Given the description of an element on the screen output the (x, y) to click on. 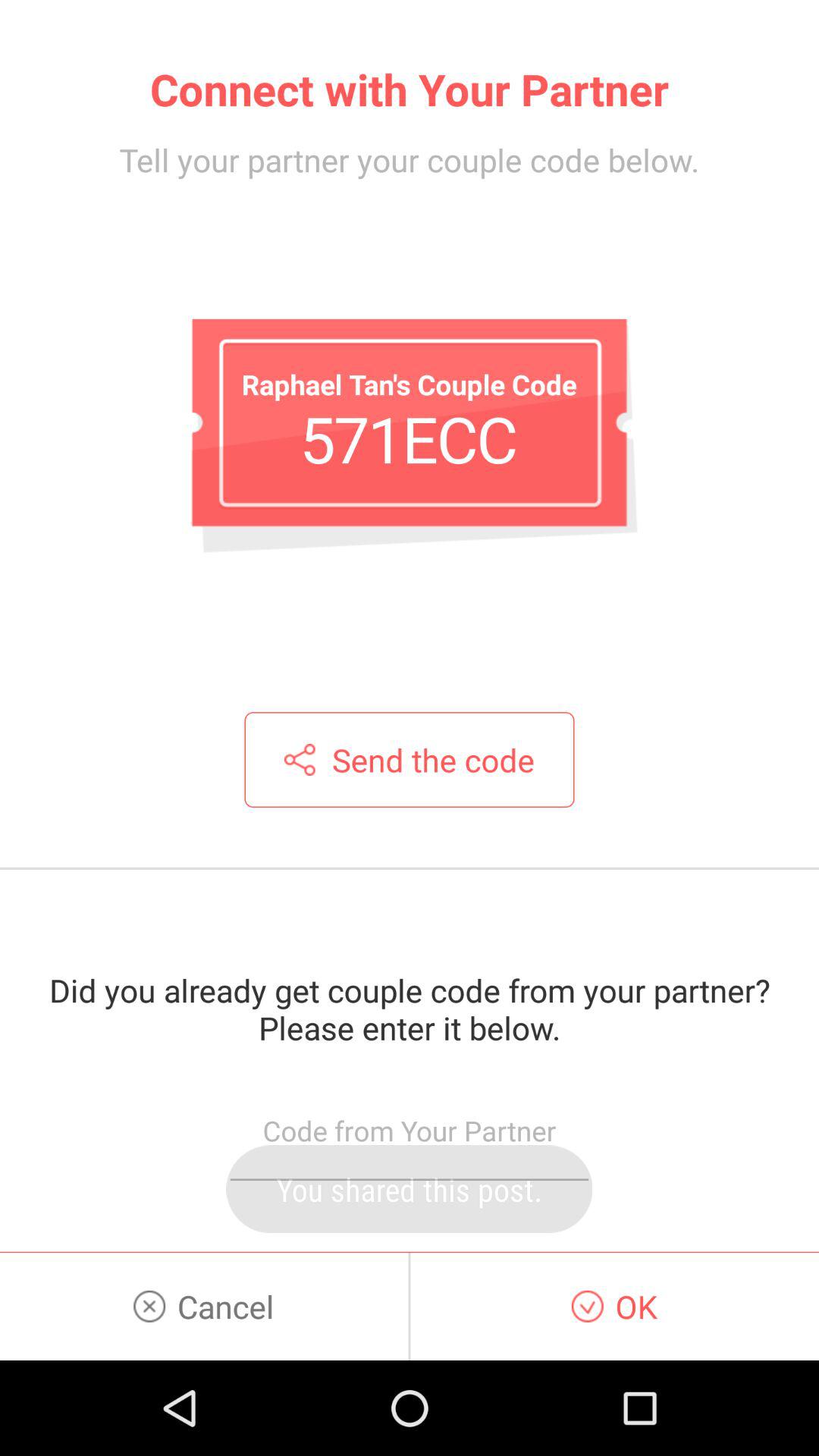
press the icon below tell your partner app (409, 438)
